Given the description of an element on the screen output the (x, y) to click on. 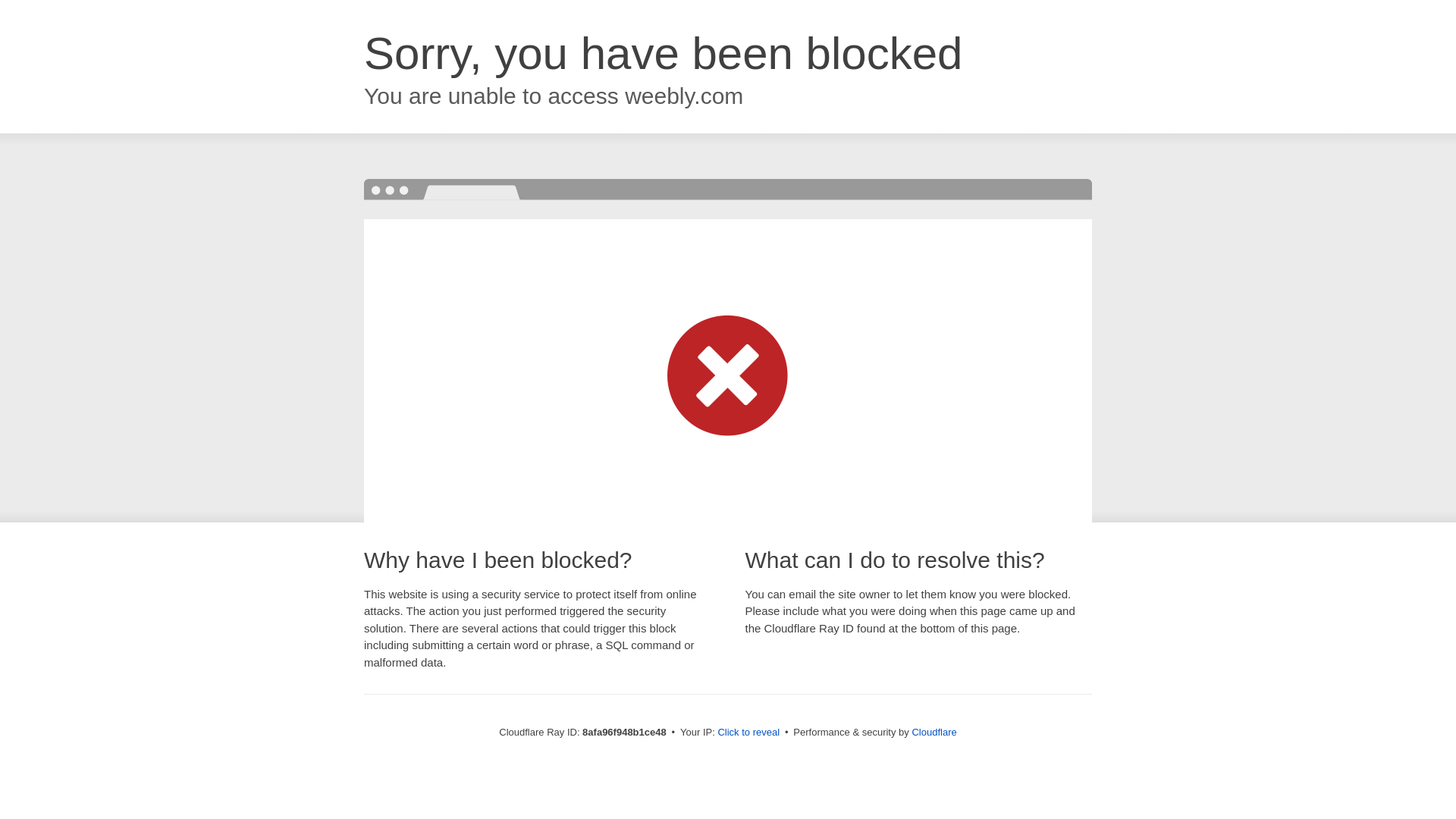
Cloudflare (933, 731)
Click to reveal (747, 732)
